Given the description of an element on the screen output the (x, y) to click on. 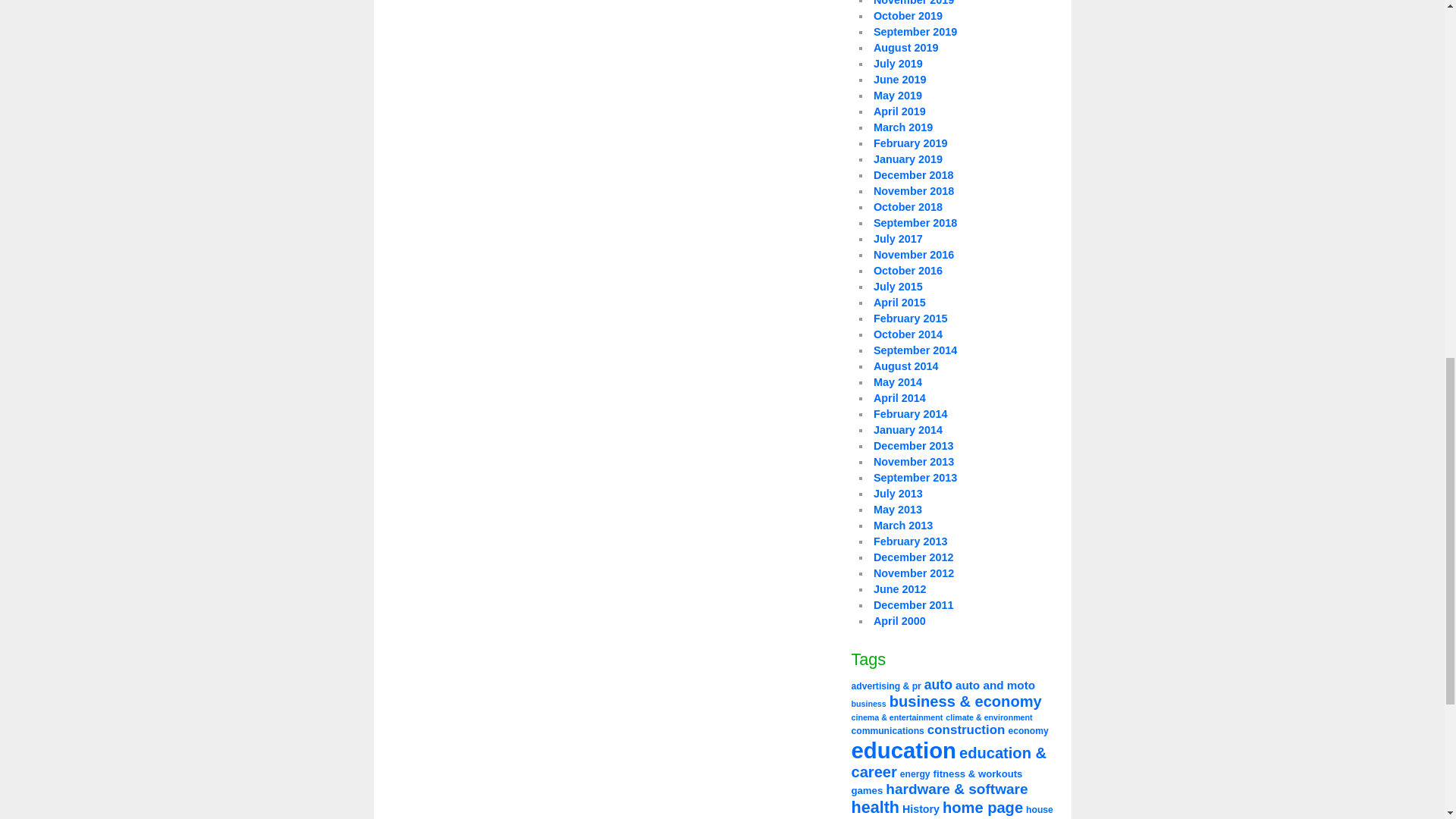
June 2019 (899, 79)
July 2019 (898, 63)
August 2019 (906, 47)
May 2019 (897, 95)
October 2019 (907, 15)
November 2019 (913, 2)
September 2019 (914, 31)
